Given the description of an element on the screen output the (x, y) to click on. 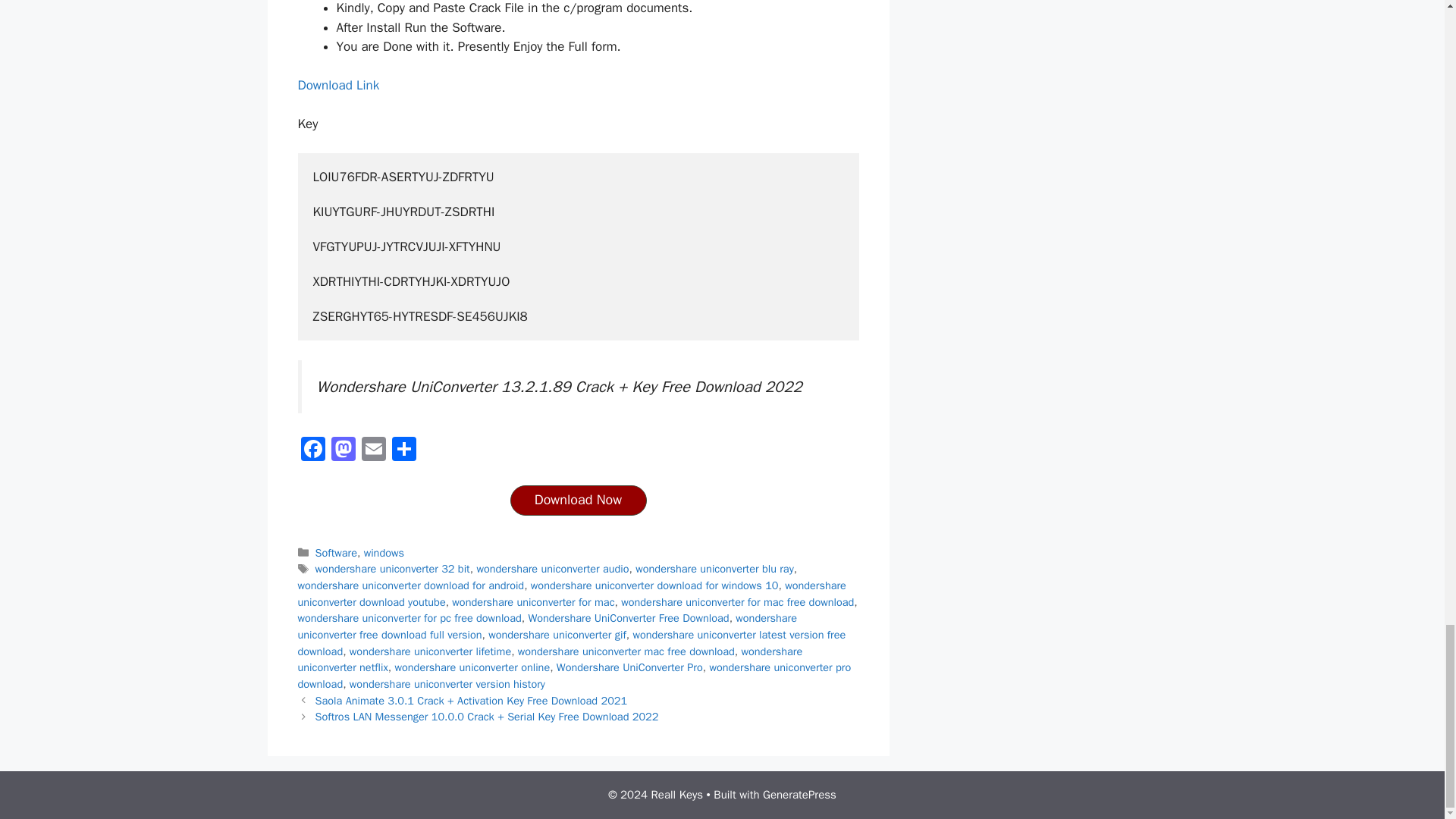
wondershare uniconverter for mac free download (737, 602)
wondershare uniconverter audio (552, 568)
wondershare uniconverter for pc free download (409, 617)
Software (335, 552)
Mastodon (342, 451)
Mastodon (342, 451)
Facebook (312, 451)
Download Now (577, 500)
wondershare uniconverter download youtube (571, 593)
Download Link (337, 84)
